Given the description of an element on the screen output the (x, y) to click on. 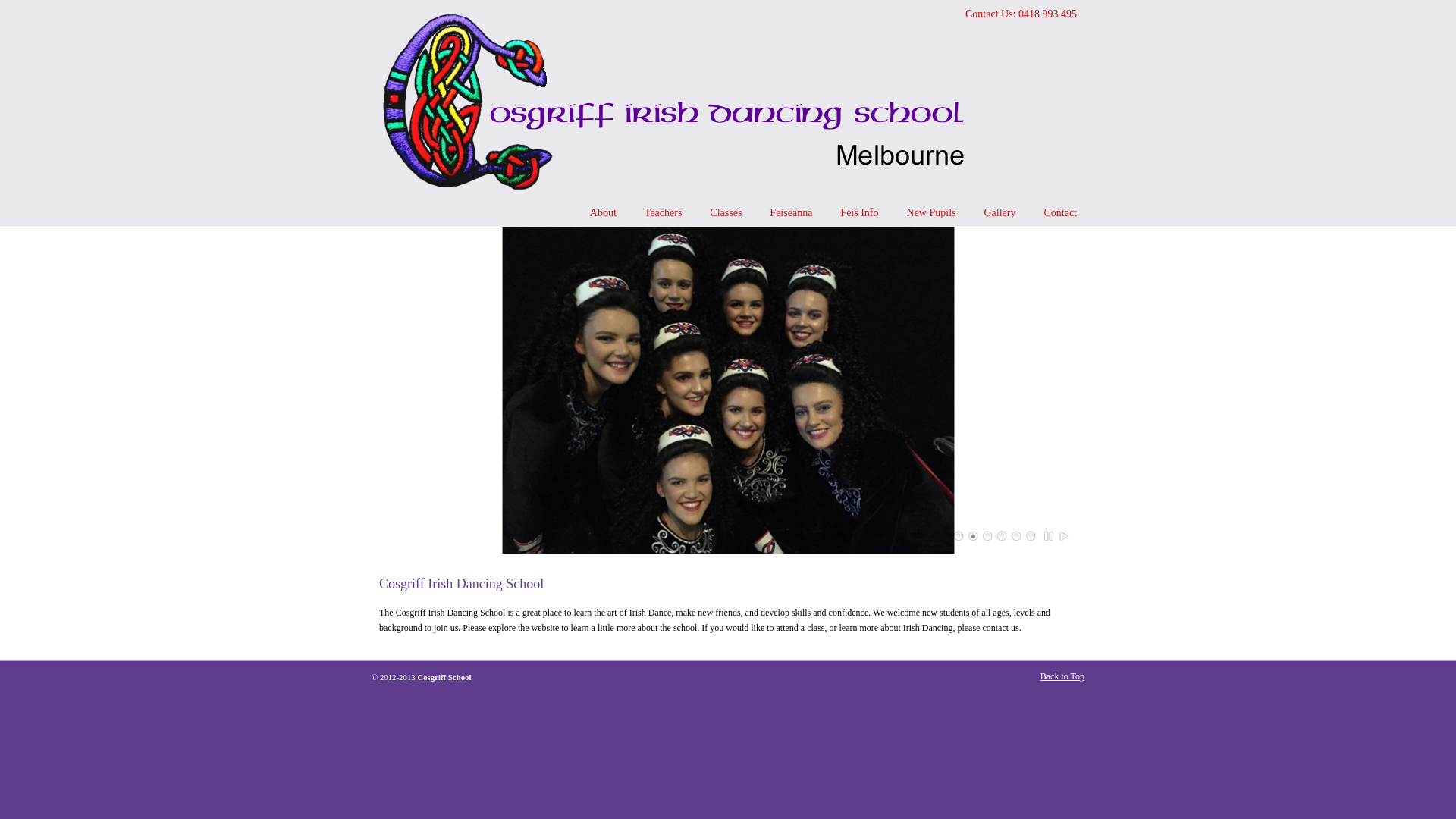
Play Element type: text (1063, 535)
Gallery Element type: text (999, 213)
About Element type: text (602, 213)
Classes Element type: text (725, 213)
Back to Top Element type: text (1062, 676)
4 Element type: text (1002, 535)
Teachers Element type: text (663, 213)
5 Element type: text (1016, 535)
New Pupils Element type: text (931, 213)
2 Element type: text (973, 535)
Pause Element type: text (1049, 535)
3 Element type: text (987, 535)
Cosgriff Irish Dancing School Element type: text (682, 102)
6 Element type: text (1031, 535)
Feiseanna Element type: text (790, 213)
Contact Element type: text (1060, 213)
1 Element type: text (958, 535)
Feis Info Element type: text (859, 213)
